Given the description of an element on the screen output the (x, y) to click on. 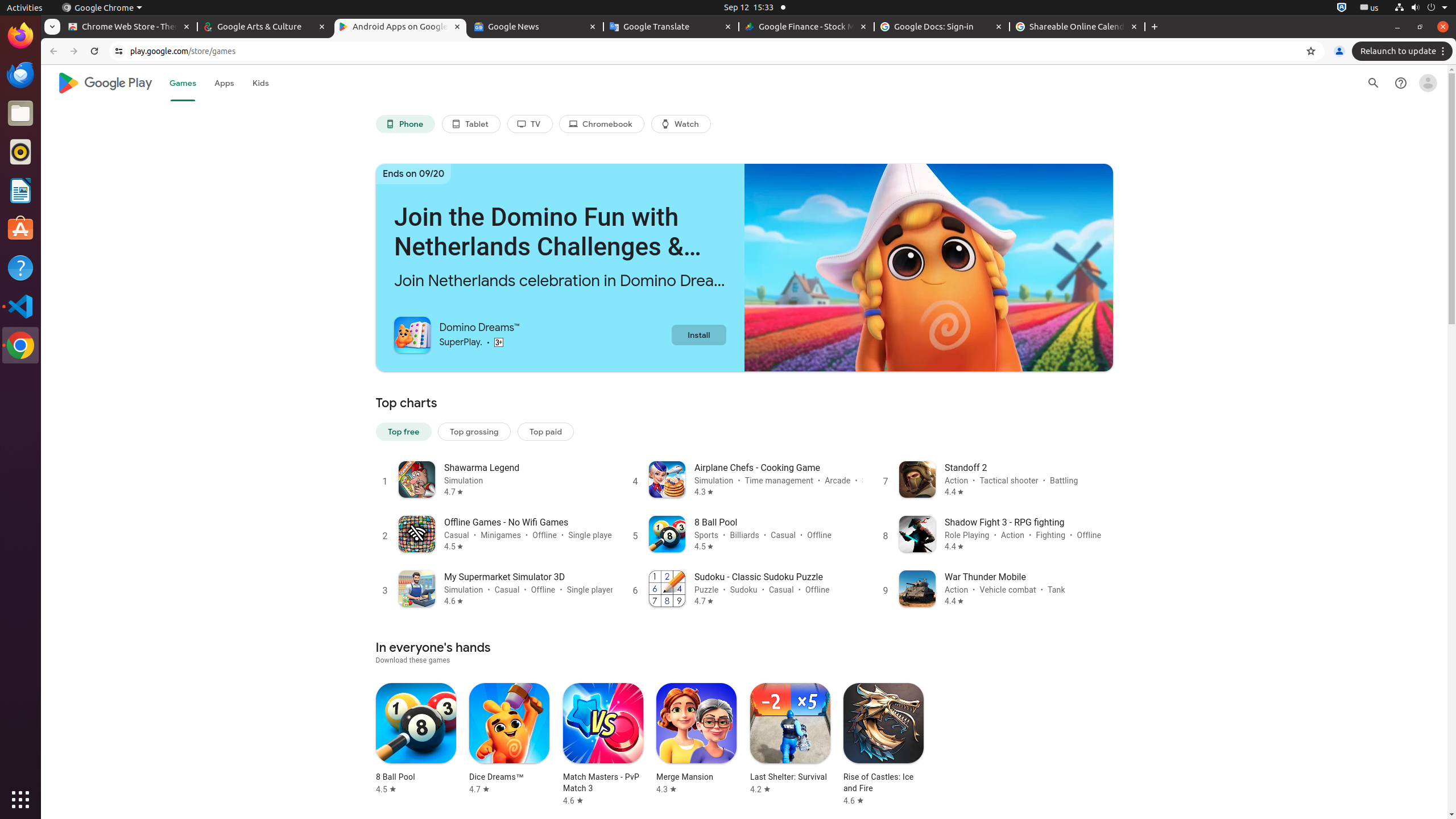
Google Play logo Element type: link (104, 82)
Install Element type: push-button (698, 334)
Reload Element type: push-button (94, 50)
Rank 4 Airplane Chefs - Cooking Game Simulation • Time management • Arcade • Single player Rated 4.3 stars out of five stars Element type: link (743, 478)
Google Chrome Element type: push-button (20, 344)
